Given the description of an element on the screen output the (x, y) to click on. 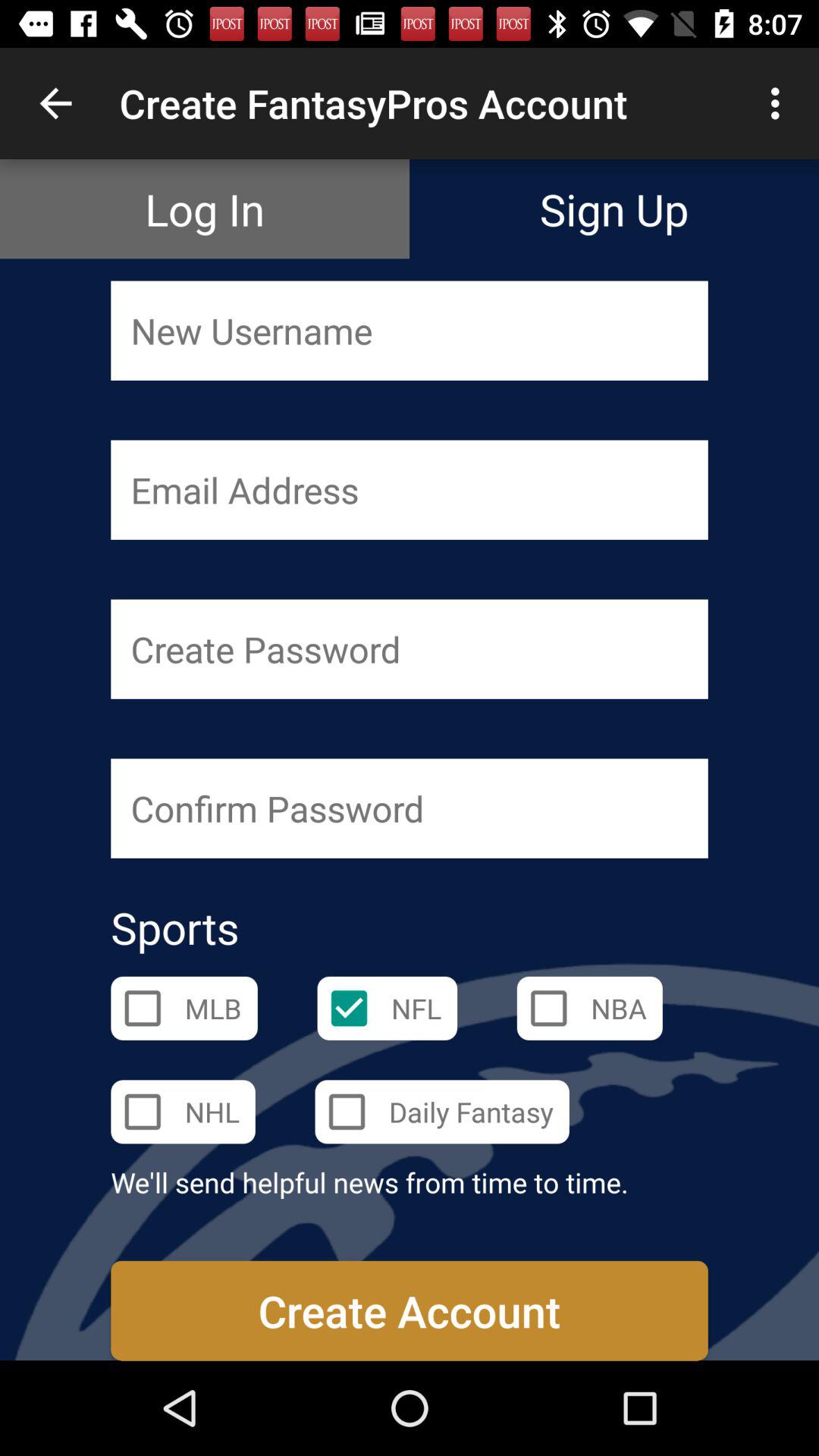
click on orange button at bottom (409, 1309)
click on the nba check box (548, 1008)
click on the box next to nhl (142, 1111)
select fourth text box in login (409, 808)
